Given the description of an element on the screen output the (x, y) to click on. 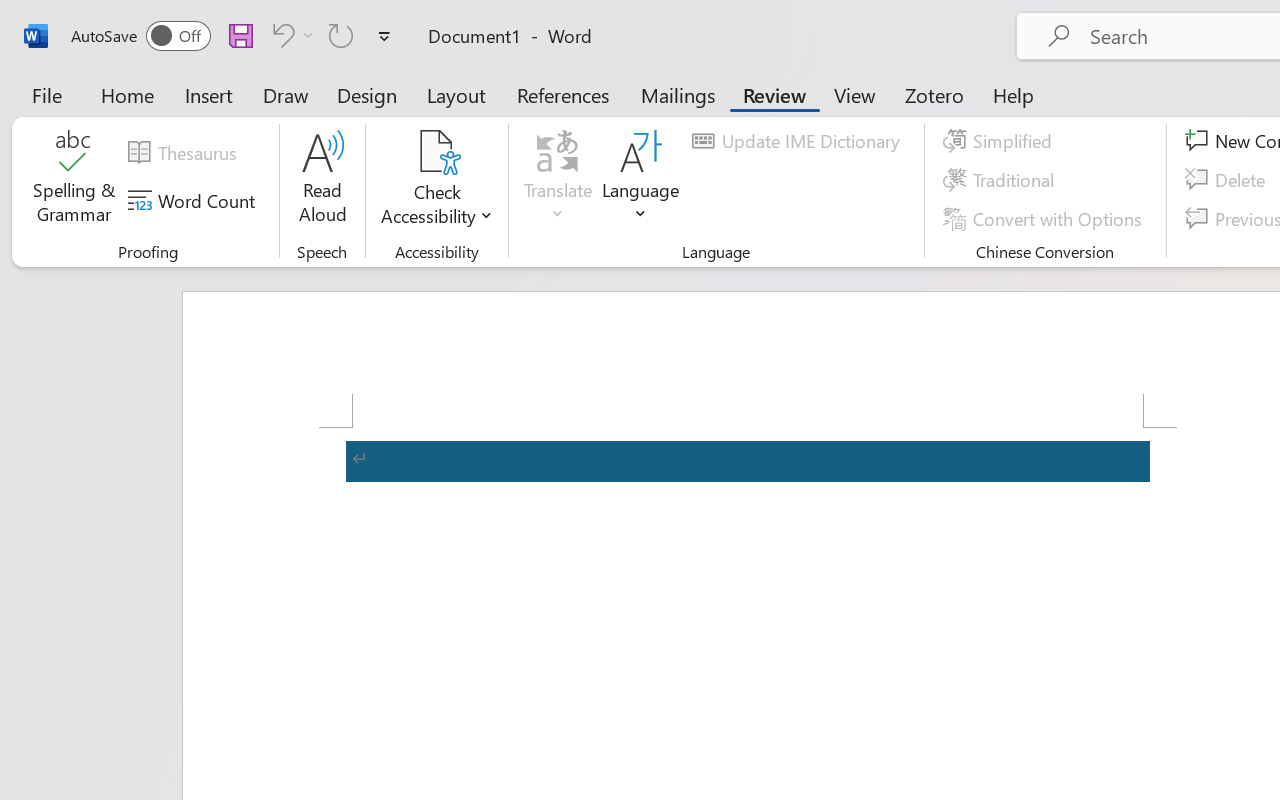
New Tab (1108, 22)
Chrome Web Store (394, 22)
Chrome Web Store - Accessibility (870, 22)
What's New (156, 22)
